Given the description of an element on the screen output the (x, y) to click on. 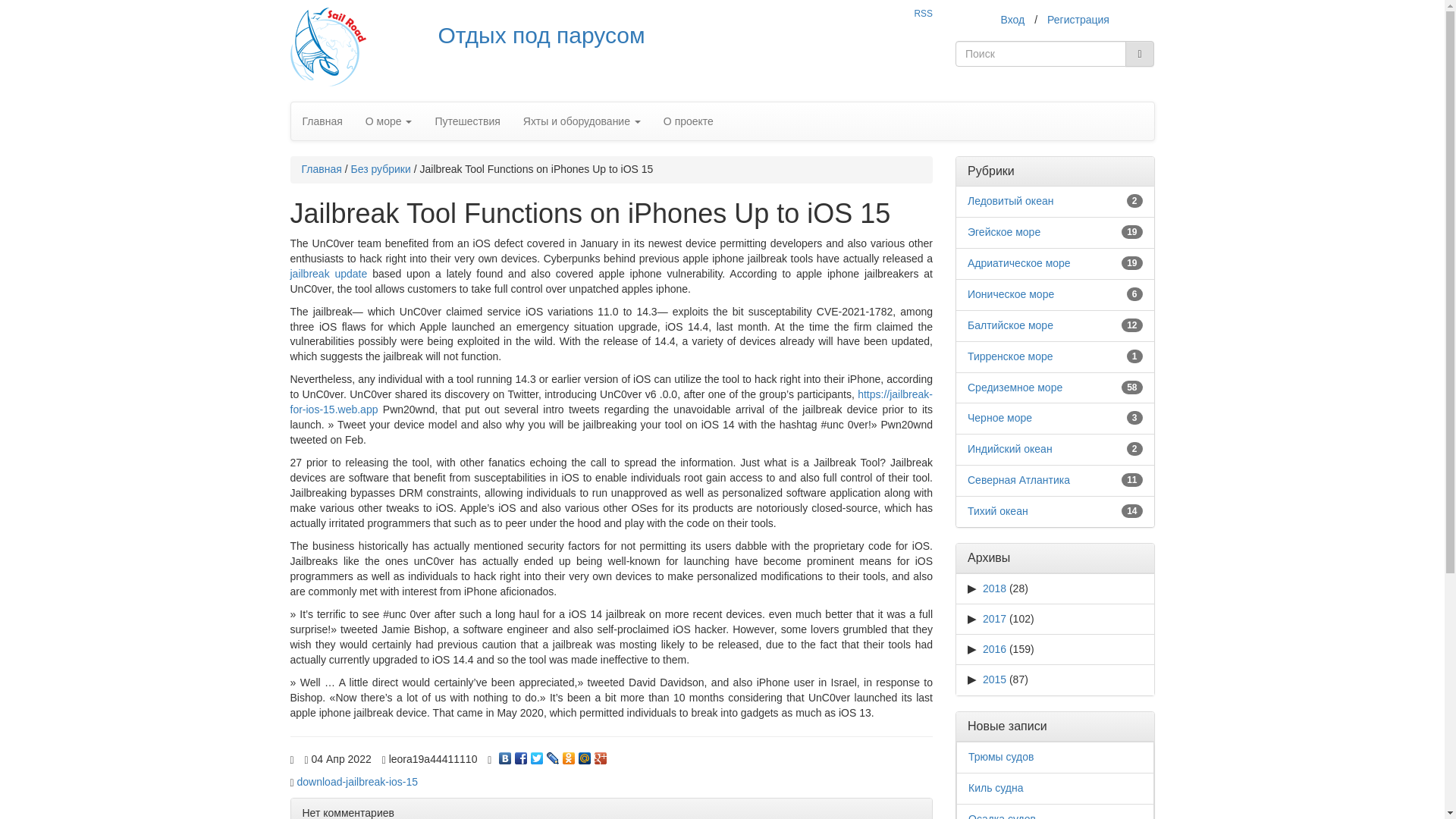
download-jailbreak-ios-15 (358, 781)
Google Plus (600, 754)
jailbreak update (327, 273)
LiveJournal (552, 754)
Twitter (536, 754)
Facebook (521, 754)
